Given the description of an element on the screen output the (x, y) to click on. 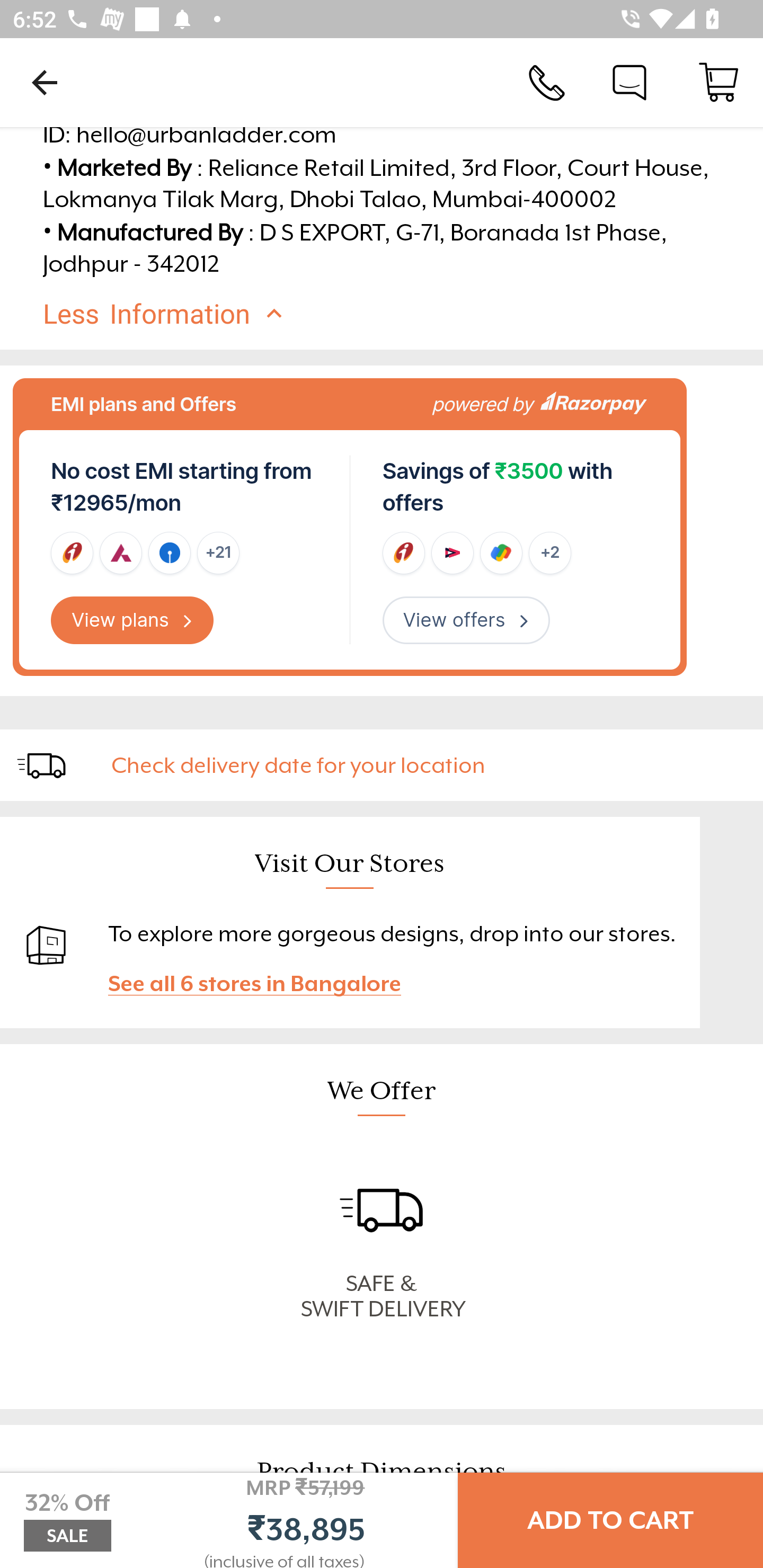
Navigate up (44, 82)
Call Us (546, 81)
Chat (629, 81)
Cart (718, 81)
Less Information  (396, 313)
View plans (132, 619)
View offers (465, 619)
Check delivery date for your location (428, 764)
See all 6 stores in Bangalore (262, 983)
ADD TO CART (610, 1520)
